Given the description of an element on the screen output the (x, y) to click on. 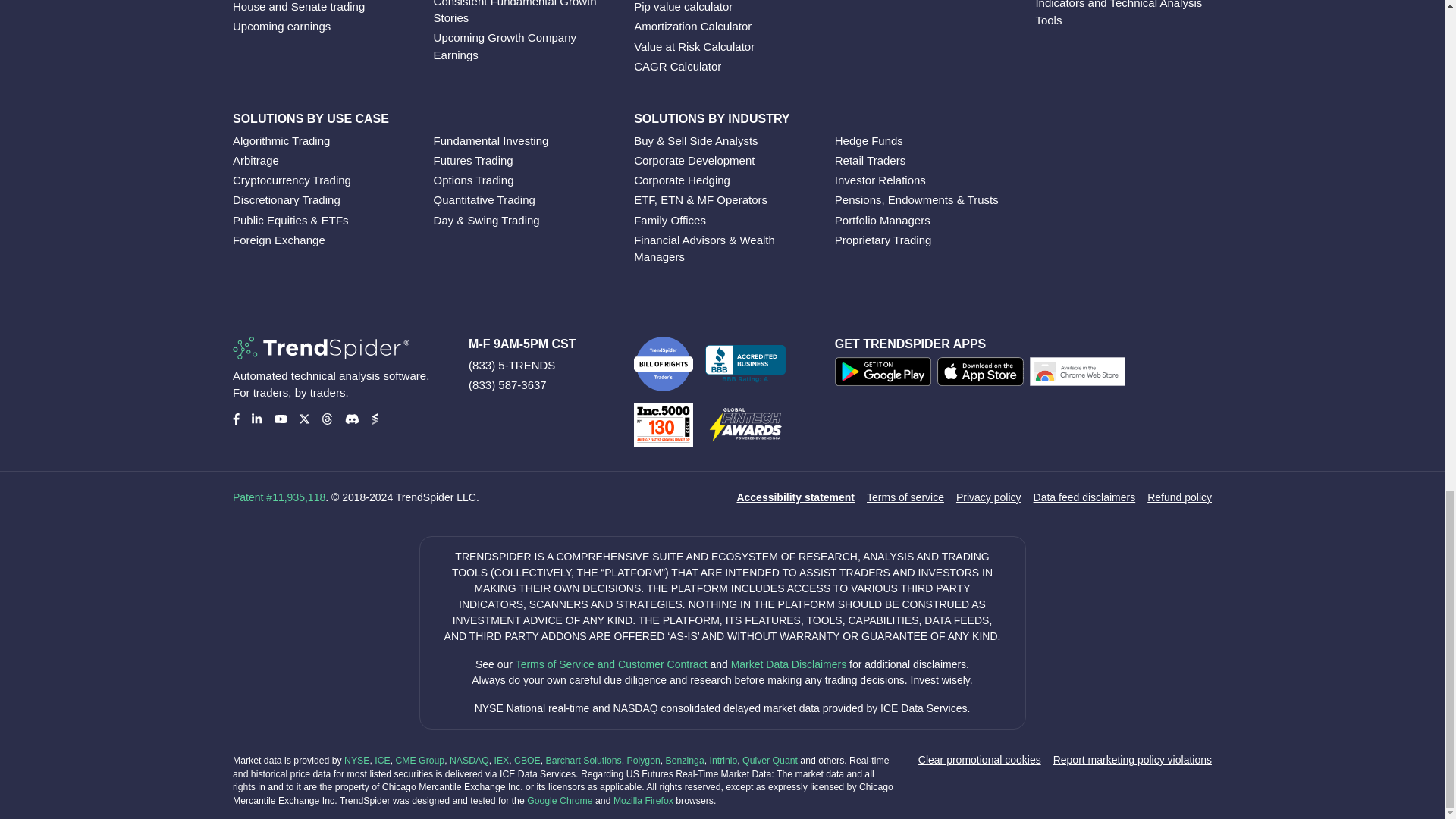
Get TrendSpider App on App Store (983, 374)
TrendSpider (320, 347)
Get TrendSpider App on Google Play (885, 374)
YouTube (280, 419)
Discord (350, 419)
Get TrendSpider extension in Chrome Web Store (1080, 374)
X (304, 419)
